Given the description of an element on the screen output the (x, y) to click on. 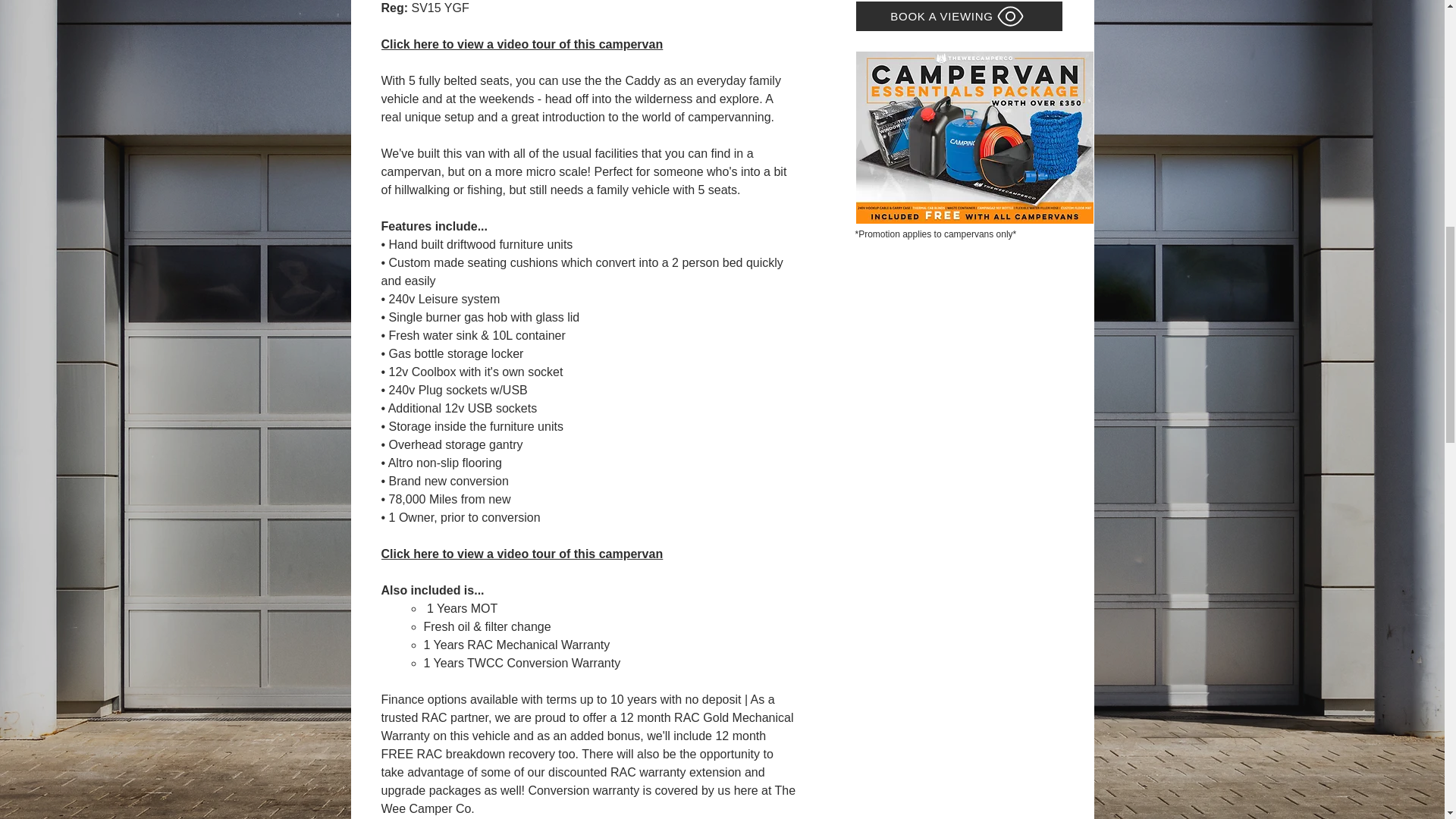
BOOK A VIEWING (958, 16)
CAMPERVAN ESSENTIALS PACK PROMO 2024.jpg (974, 137)
Click here to view a video tour of this campervan (521, 553)
Click here to view a video tour of this campervan (521, 43)
